Given the description of an element on the screen output the (x, y) to click on. 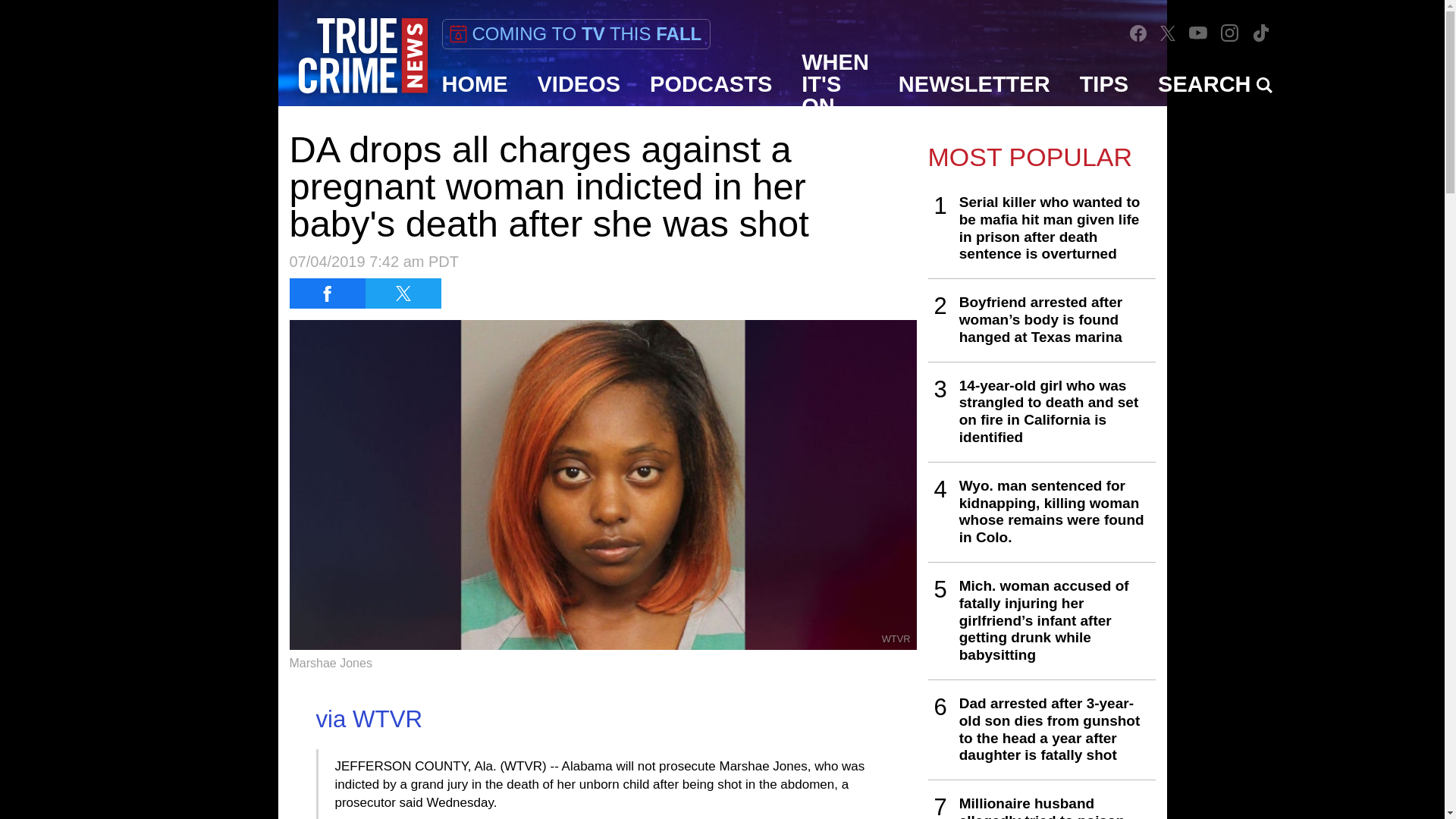
TikTok (1260, 32)
Facebook (1137, 33)
True Crime News (363, 56)
Instagram (1230, 32)
NEWSLETTER (974, 84)
Instagram (1229, 32)
YouTube (1198, 32)
True Crime News (363, 56)
Facebook (1138, 32)
WHEN IT'S ON (835, 84)
SEARCH (1214, 84)
YouTube (1198, 32)
TikTok (1260, 32)
PODCASTS (710, 84)
VIDEOS (579, 84)
